Given the description of an element on the screen output the (x, y) to click on. 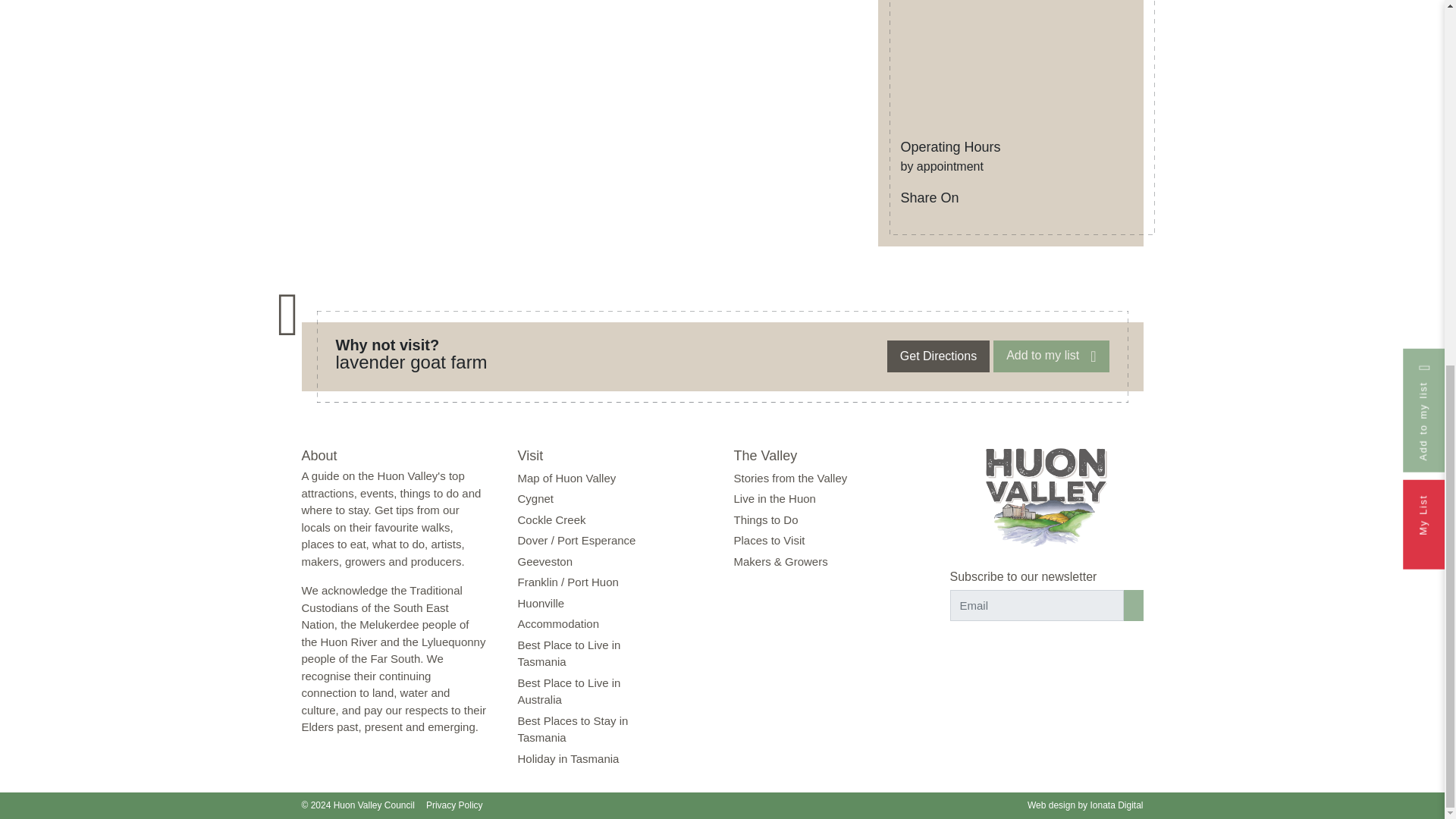
Add to my list (1050, 356)
Get Directions (938, 356)
Cockle Creek (550, 519)
Huonville (540, 603)
Geeveston (544, 561)
Map of Huon Valley (565, 477)
Cygnet (534, 498)
